Given the description of an element on the screen output the (x, y) to click on. 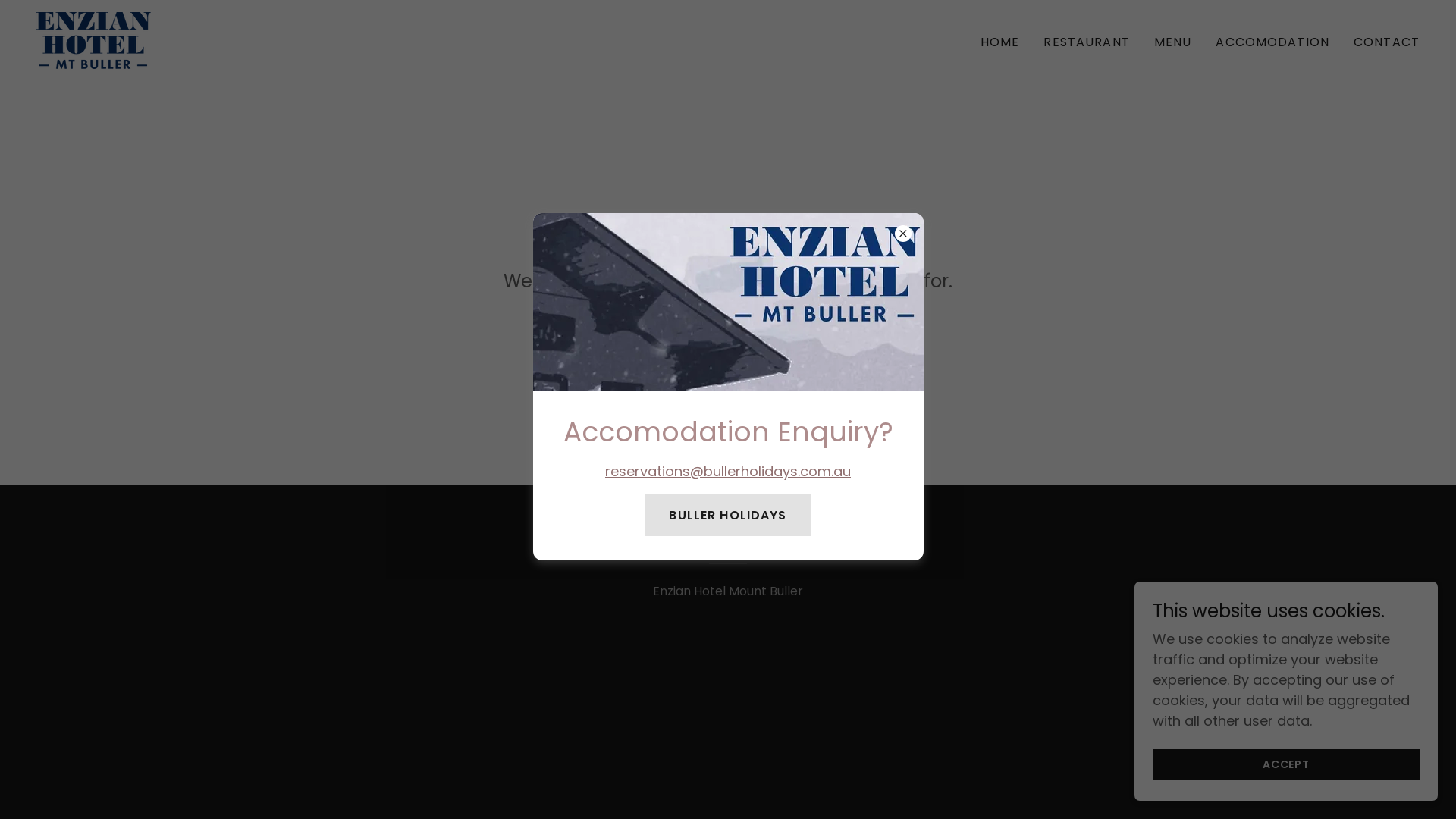
HOME Element type: text (999, 42)
MENU Element type: text (1172, 42)
RESTAURANT Element type: text (1085, 42)
CONTACT Element type: text (1386, 42)
GO TO HOME PAGE Element type: text (727, 340)
reservations@bullerholidays.com.au Element type: text (727, 470)
ACCOMODATION Element type: text (1272, 42)
ACCEPT Element type: text (1285, 764)
BULLER HOLIDAYS Element type: text (727, 514)
